Given the description of an element on the screen output the (x, y) to click on. 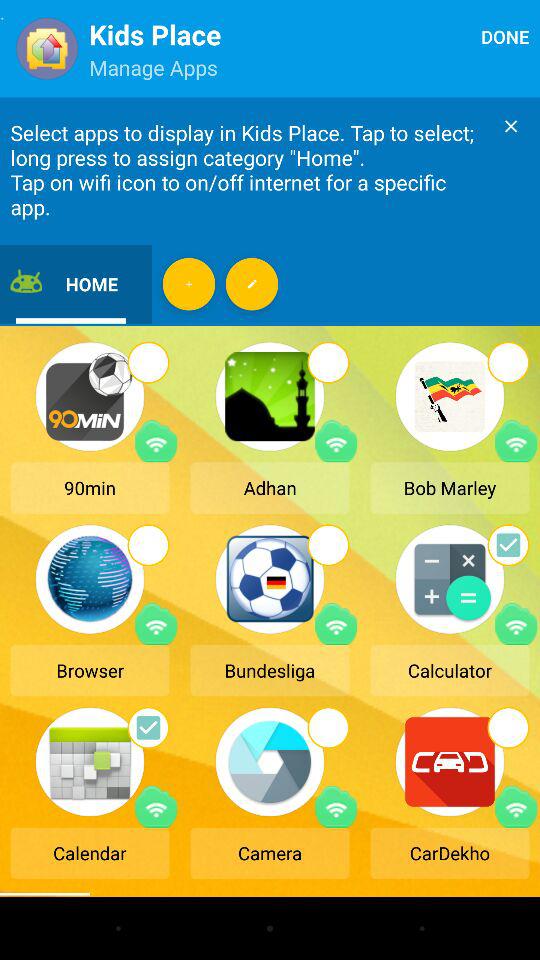
toggle wifi option (516, 441)
